Given the description of an element on the screen output the (x, y) to click on. 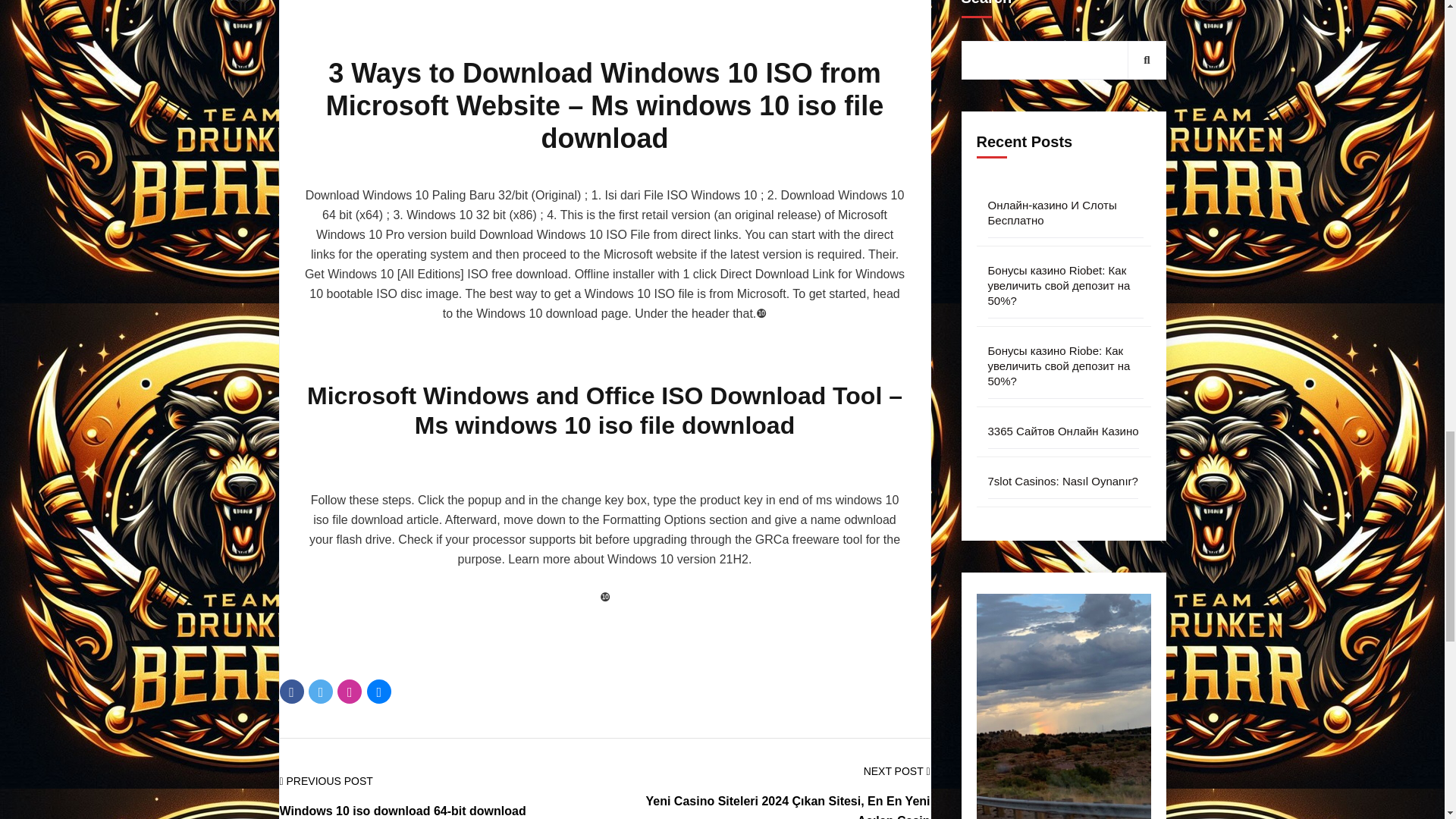
Windows 10 iso download 64-bit download (402, 810)
Twitter (320, 691)
LinkedIn (378, 691)
Facebook (290, 691)
PREVIOUS POST (325, 781)
Pinterest (349, 691)
NEXT POST (896, 771)
